Given the description of an element on the screen output the (x, y) to click on. 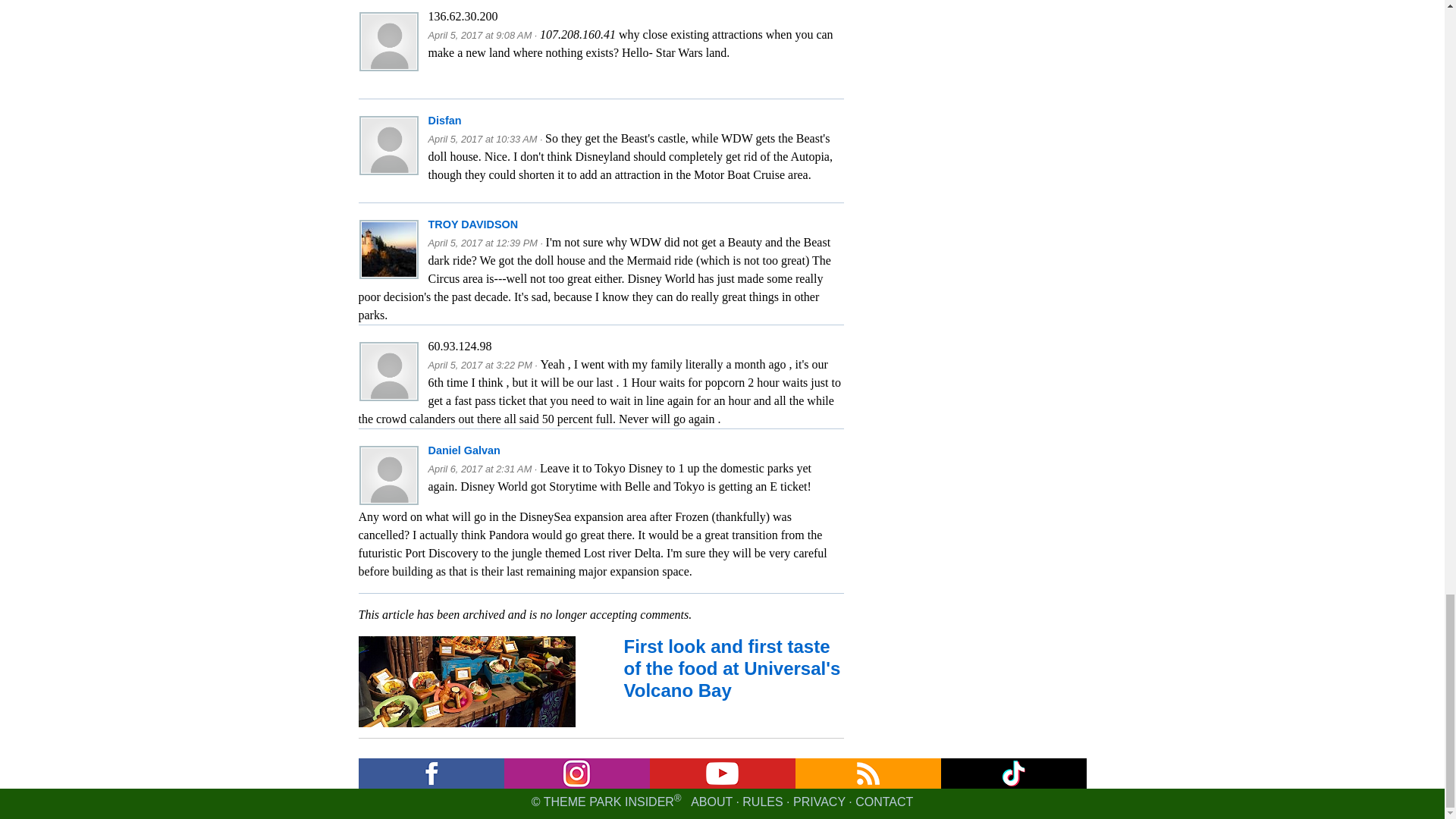
Disfan (444, 120)
RSS (867, 773)
YouTube (721, 773)
Newsletter (576, 773)
Twitter (1012, 773)
Daniel Galvan (463, 450)
TROY DAVIDSON (473, 224)
Facebook (430, 773)
